Given the description of an element on the screen output the (x, y) to click on. 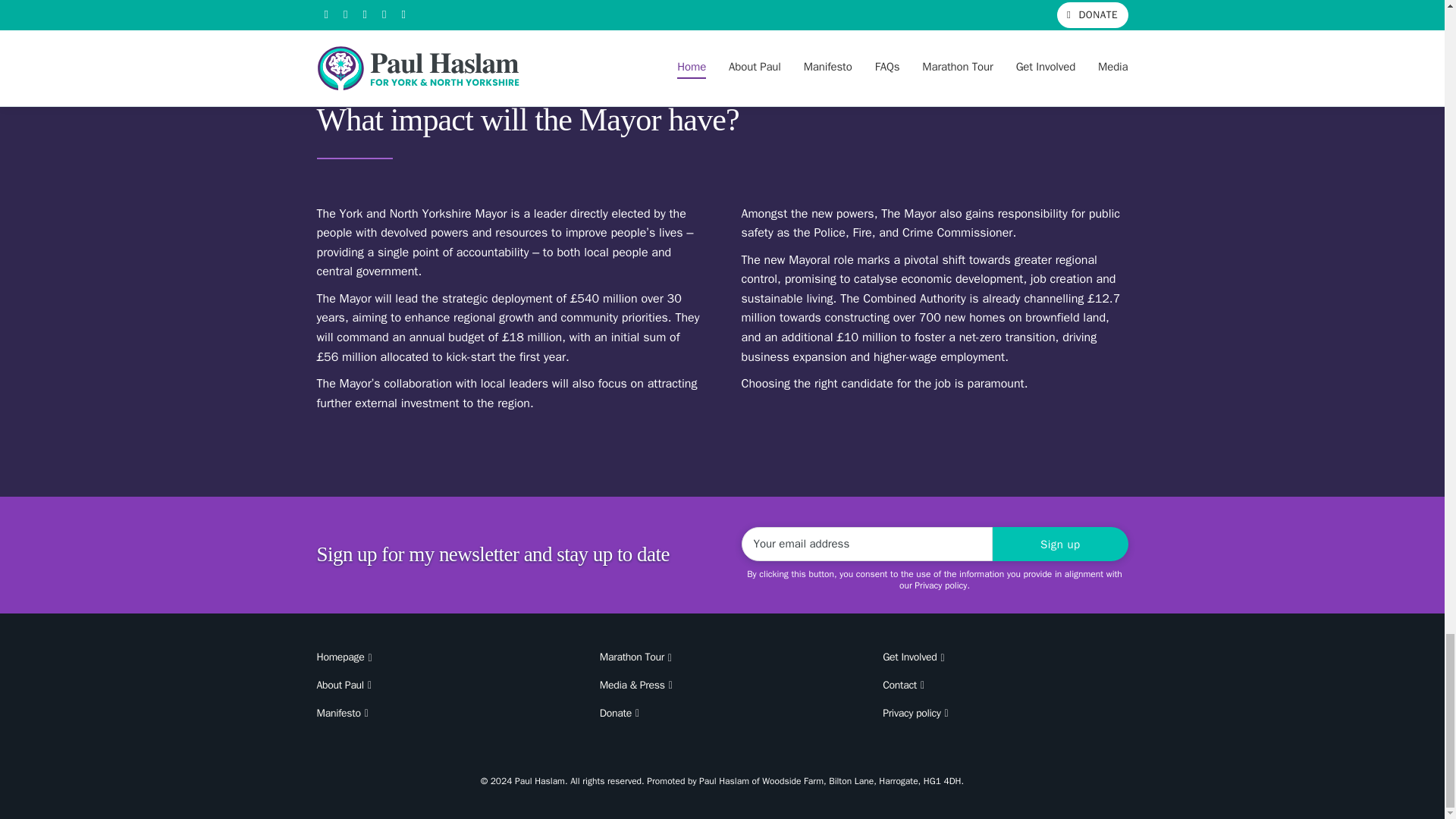
Homepage (439, 657)
Sign up (1060, 544)
Marathon Tour (721, 657)
About Paul (439, 685)
Manifesto (439, 713)
